Given the description of an element on the screen output the (x, y) to click on. 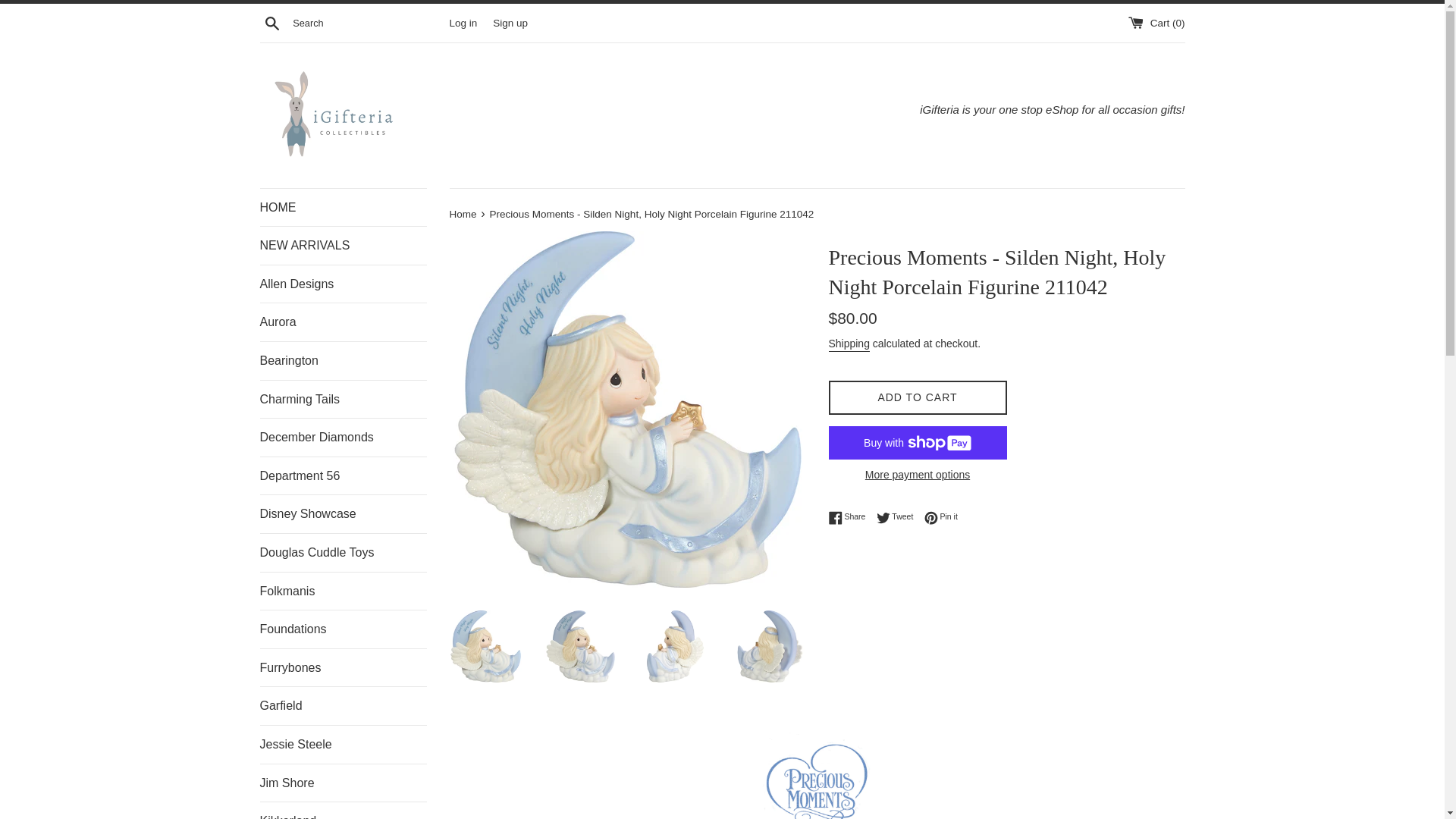
Folkmanis (342, 591)
Charming Tails (342, 399)
Bearington (342, 361)
Garfield (342, 705)
Furrybones (342, 668)
Department 56 (342, 476)
Sign up (510, 21)
Allen Designs (342, 284)
Search (271, 21)
Kikkerland (342, 810)
